Given the description of an element on the screen output the (x, y) to click on. 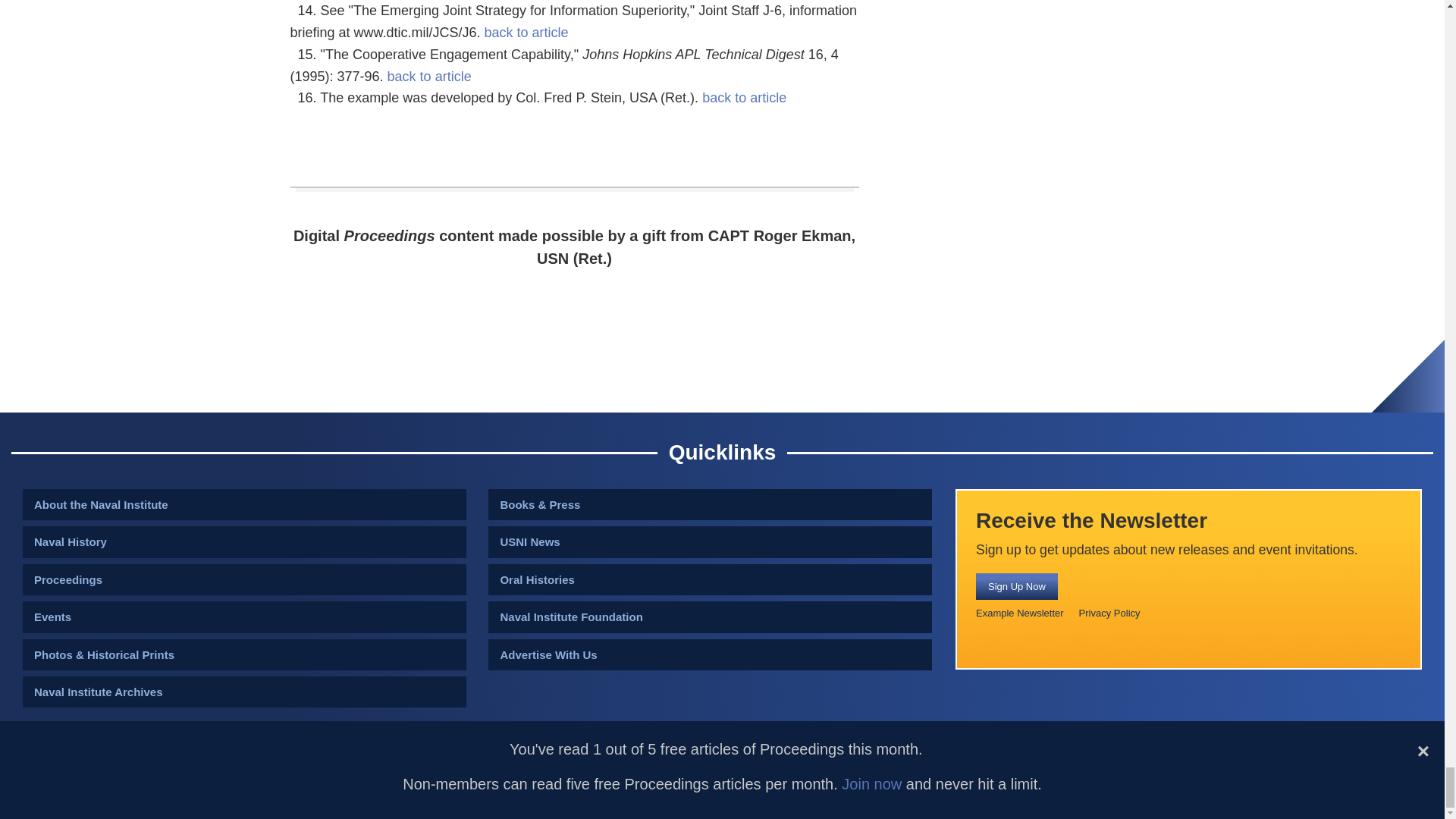
Advertise With Us (709, 654)
